Given the description of an element on the screen output the (x, y) to click on. 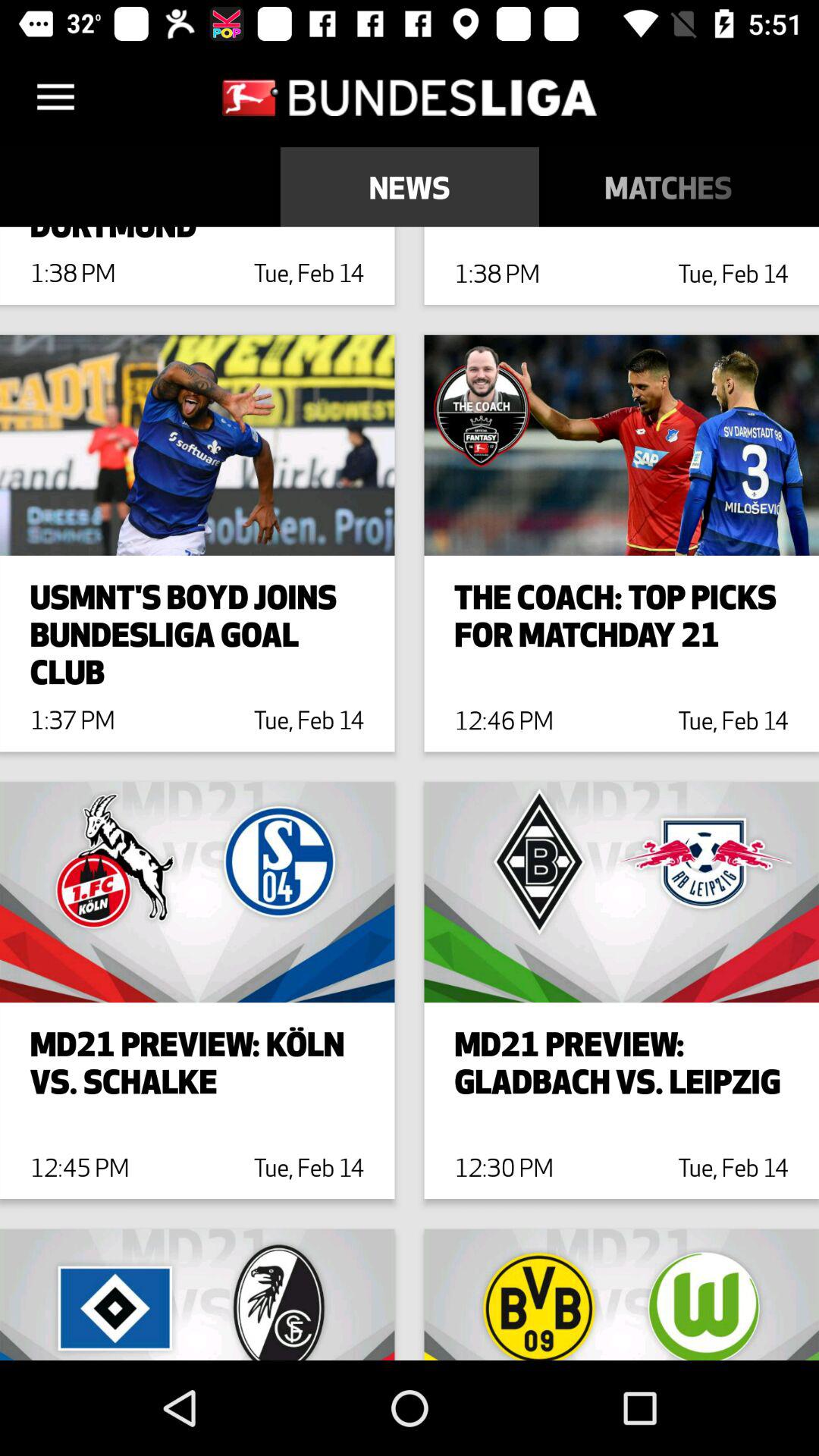
scroll until the news icon (409, 186)
